Given the description of an element on the screen output the (x, y) to click on. 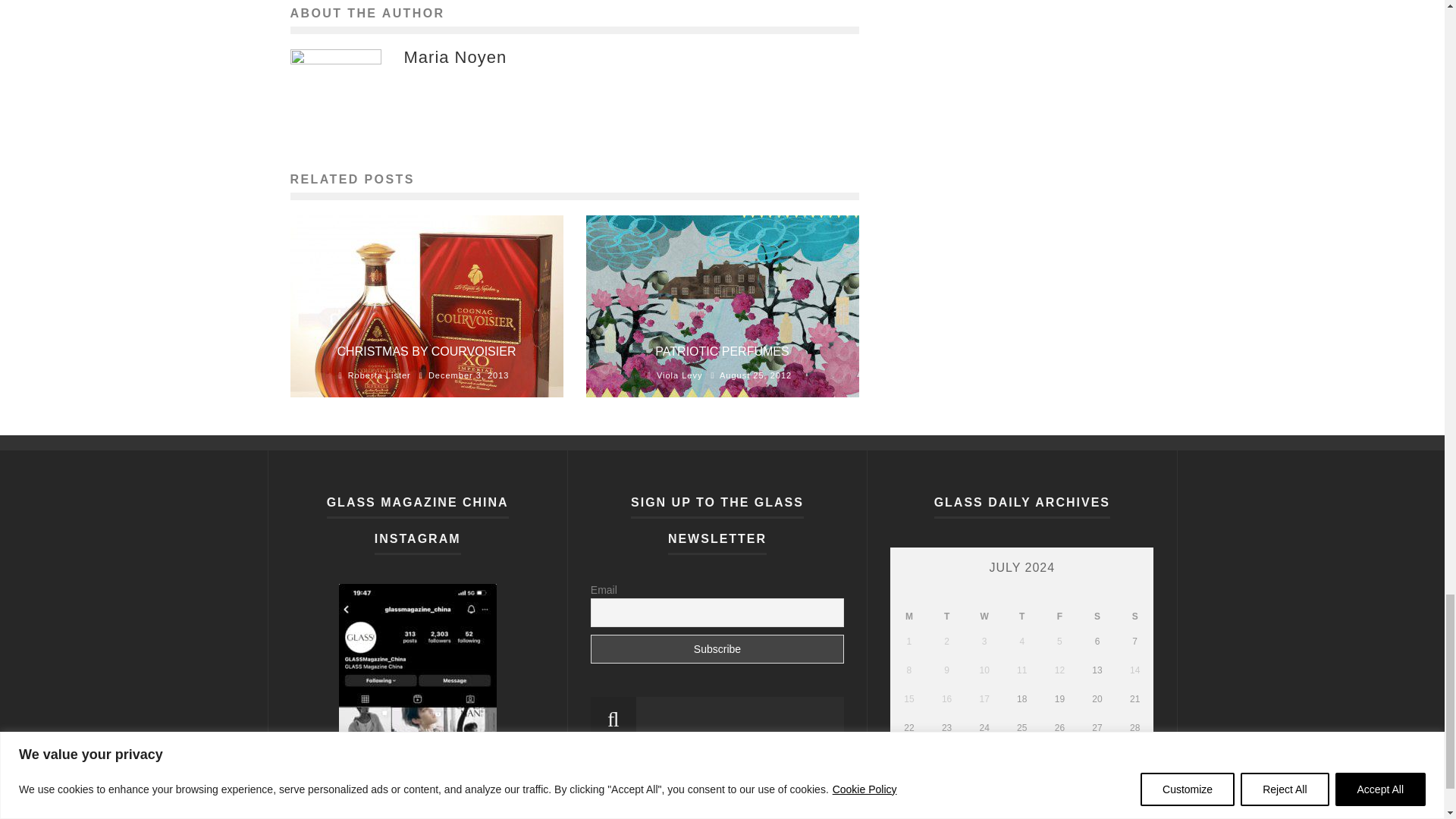
Subscribe (717, 648)
